Given the description of an element on the screen output the (x, y) to click on. 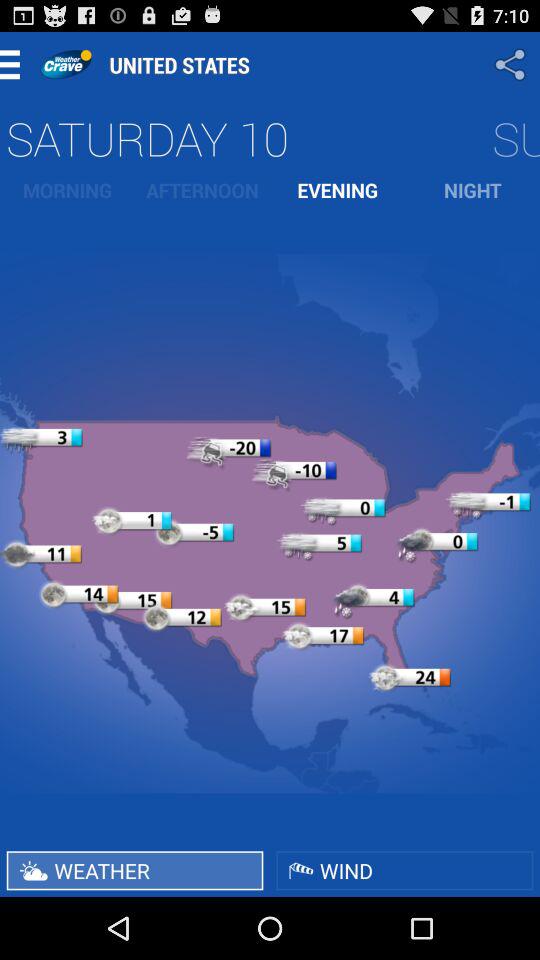
share this page (512, 64)
